Given the description of an element on the screen output the (x, y) to click on. 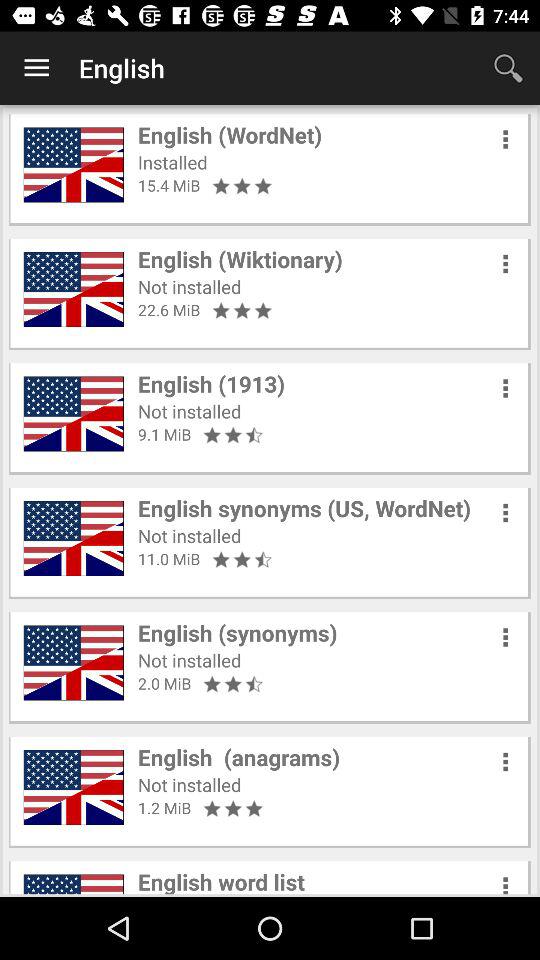
flip to 15.4 mib (169, 185)
